Given the description of an element on the screen output the (x, y) to click on. 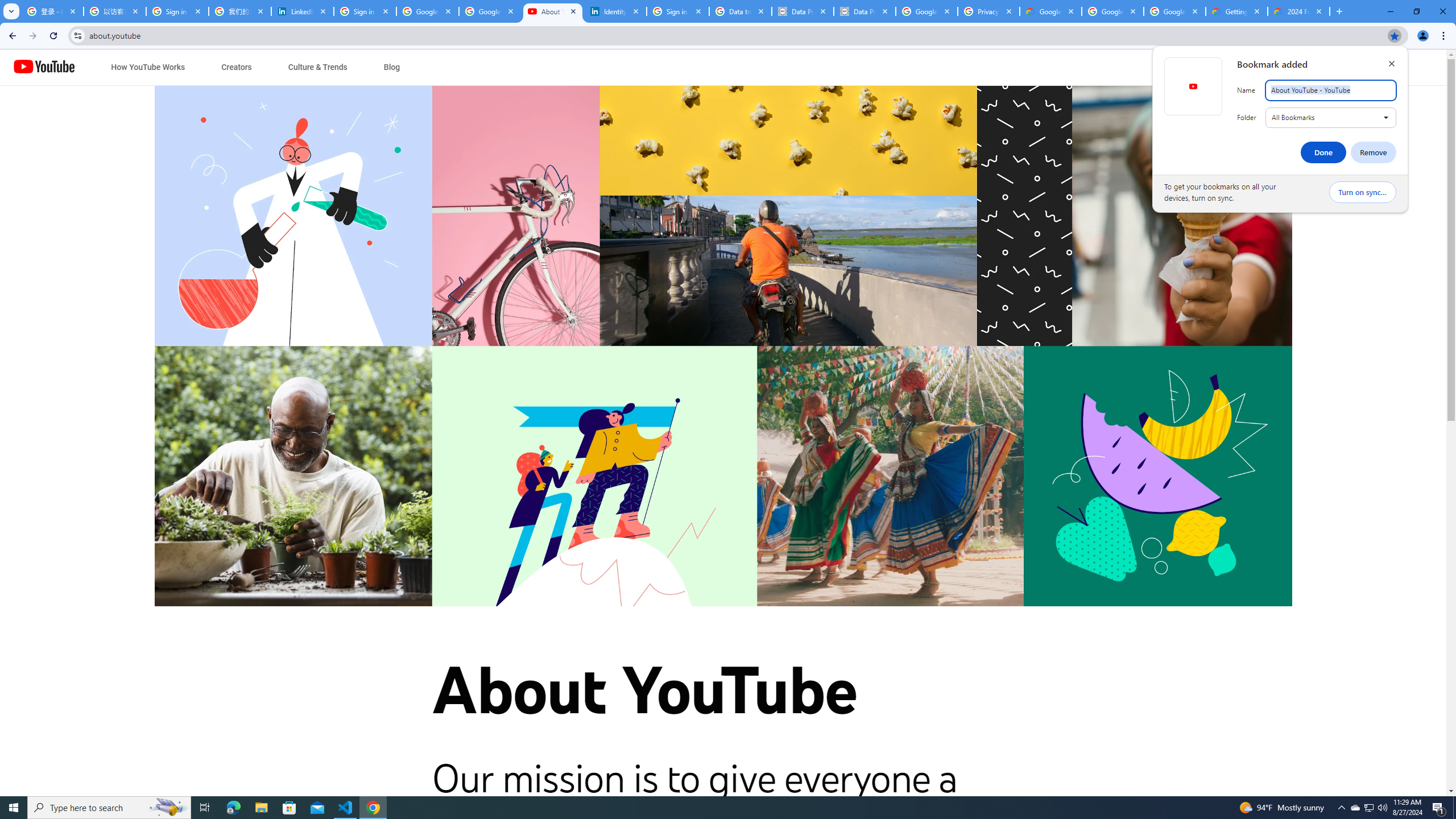
Type here to search (108, 807)
Q2790: 100% (1382, 807)
Microsoft Edge (233, 807)
Blog (391, 67)
Google Workspace - Specific Terms (1111, 11)
Sign in - Google Accounts (365, 11)
Action Center, 1 new notification (1439, 807)
